Given the description of an element on the screen output the (x, y) to click on. 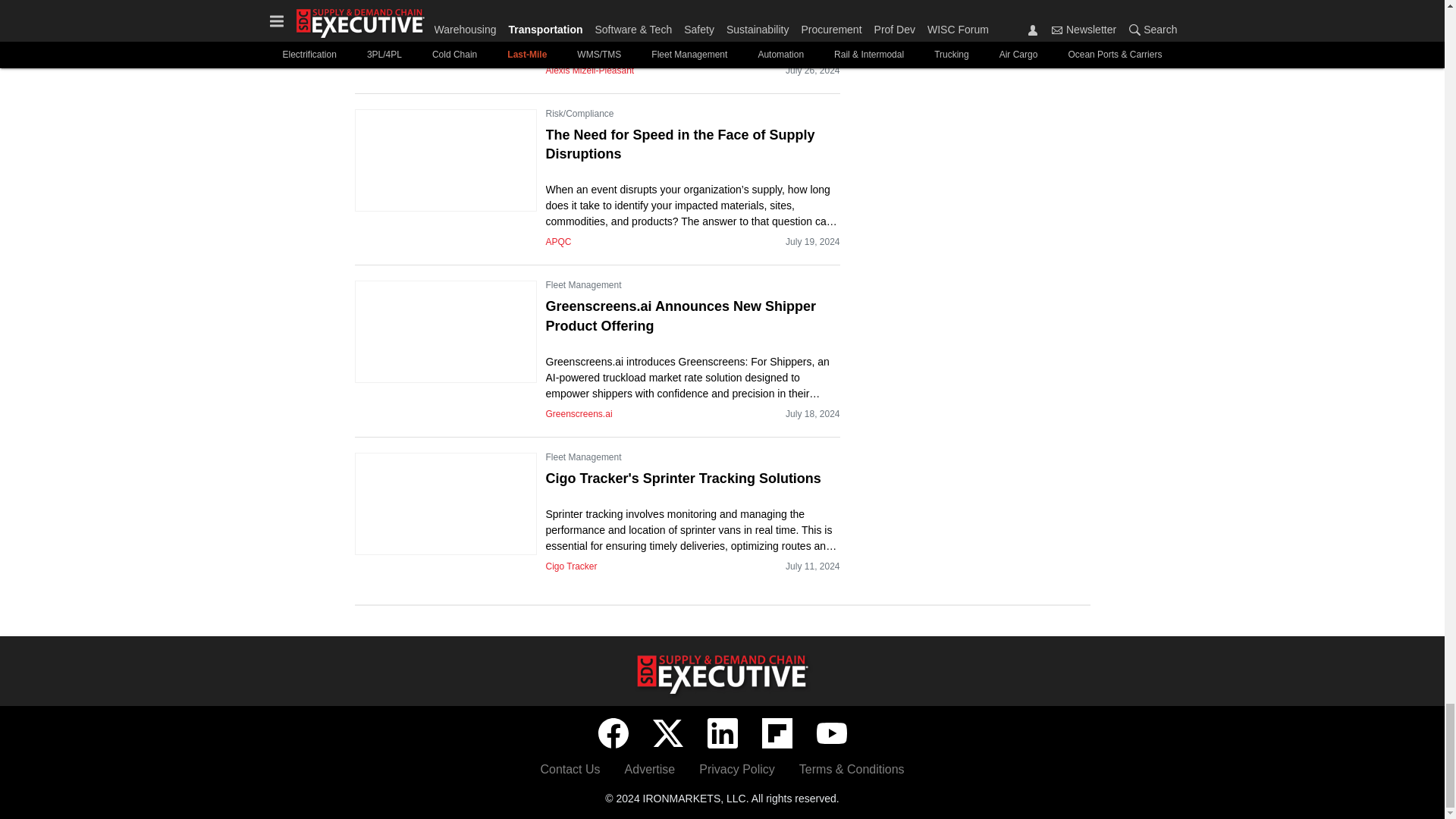
LinkedIn icon (721, 733)
Facebook icon (611, 733)
Flipboard icon (776, 733)
Twitter X icon (667, 733)
YouTube icon (830, 733)
